Given the description of an element on the screen output the (x, y) to click on. 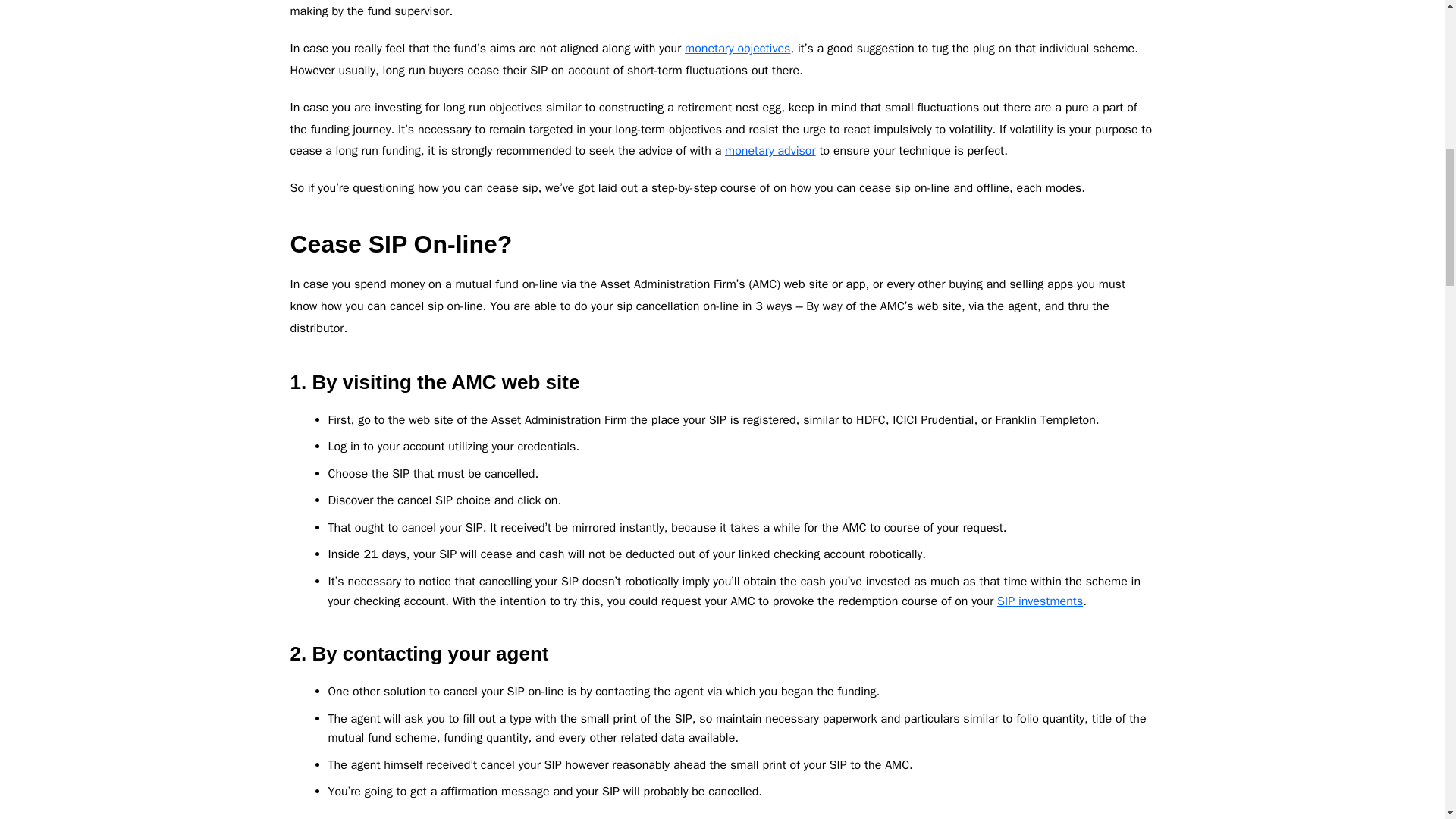
SIP investments (1040, 601)
monetary objectives (737, 48)
monetary advisor (770, 150)
